Given the description of an element on the screen output the (x, y) to click on. 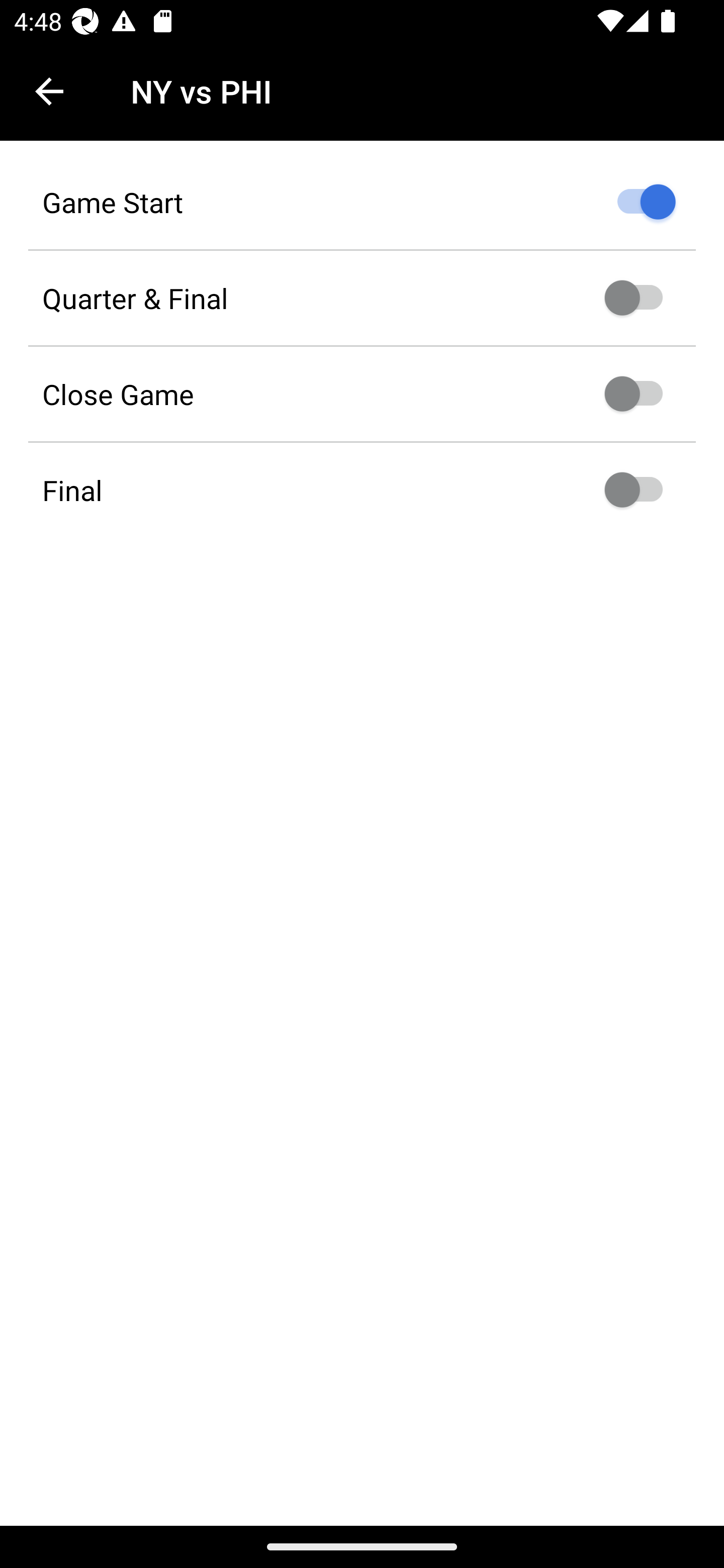
Navigate up (49, 91)
